Given the description of an element on the screen output the (x, y) to click on. 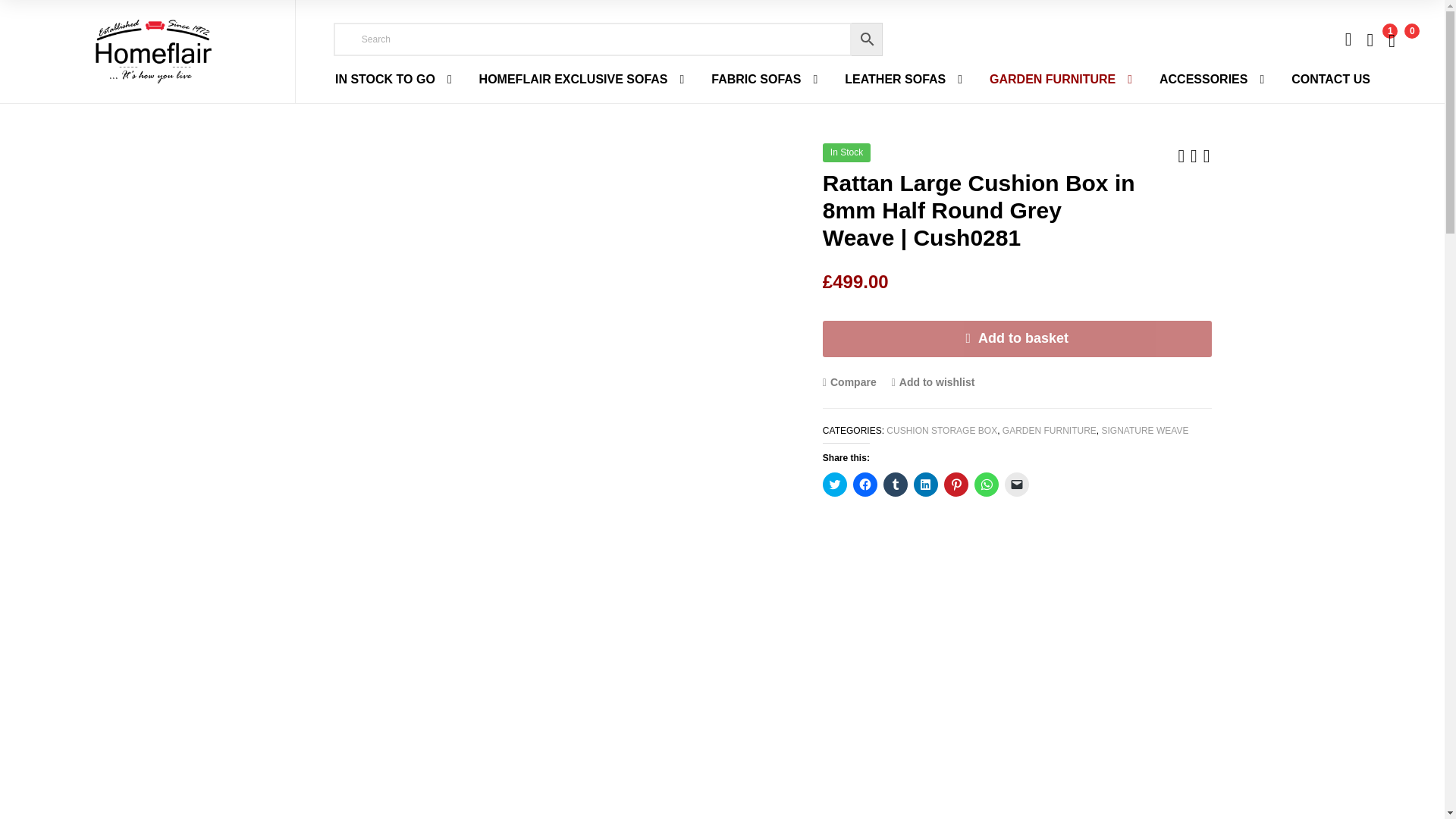
Click to share on Tumblr (895, 484)
Click to share on Twitter (834, 484)
IN STOCK TO GO (393, 79)
Click to share on Facebook (865, 484)
FABRIC SOFAS (763, 79)
Click to email a link to a friend (1016, 484)
HOMEFLAIR EXCLUSIVE SOFAS (582, 79)
Click to share on LinkedIn (925, 484)
Click to share on Pinterest (955, 484)
Click to share on WhatsApp (986, 484)
LEATHER SOFAS (903, 79)
